Given the description of an element on the screen output the (x, y) to click on. 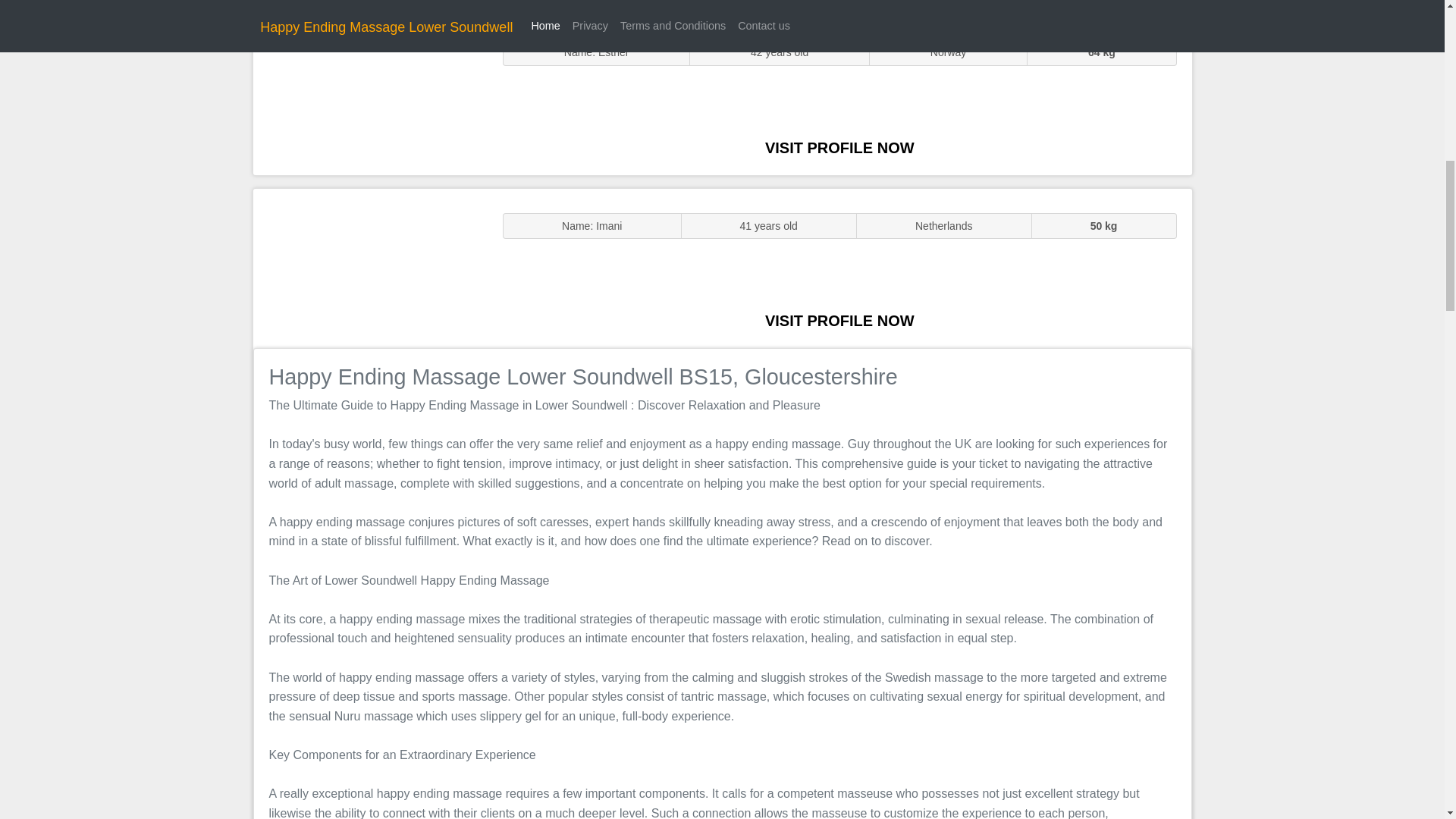
Sluts (370, 94)
VISIT PROFILE NOW (839, 320)
Massage (370, 267)
VISIT PROFILE NOW (839, 147)
